Given the description of an element on the screen output the (x, y) to click on. 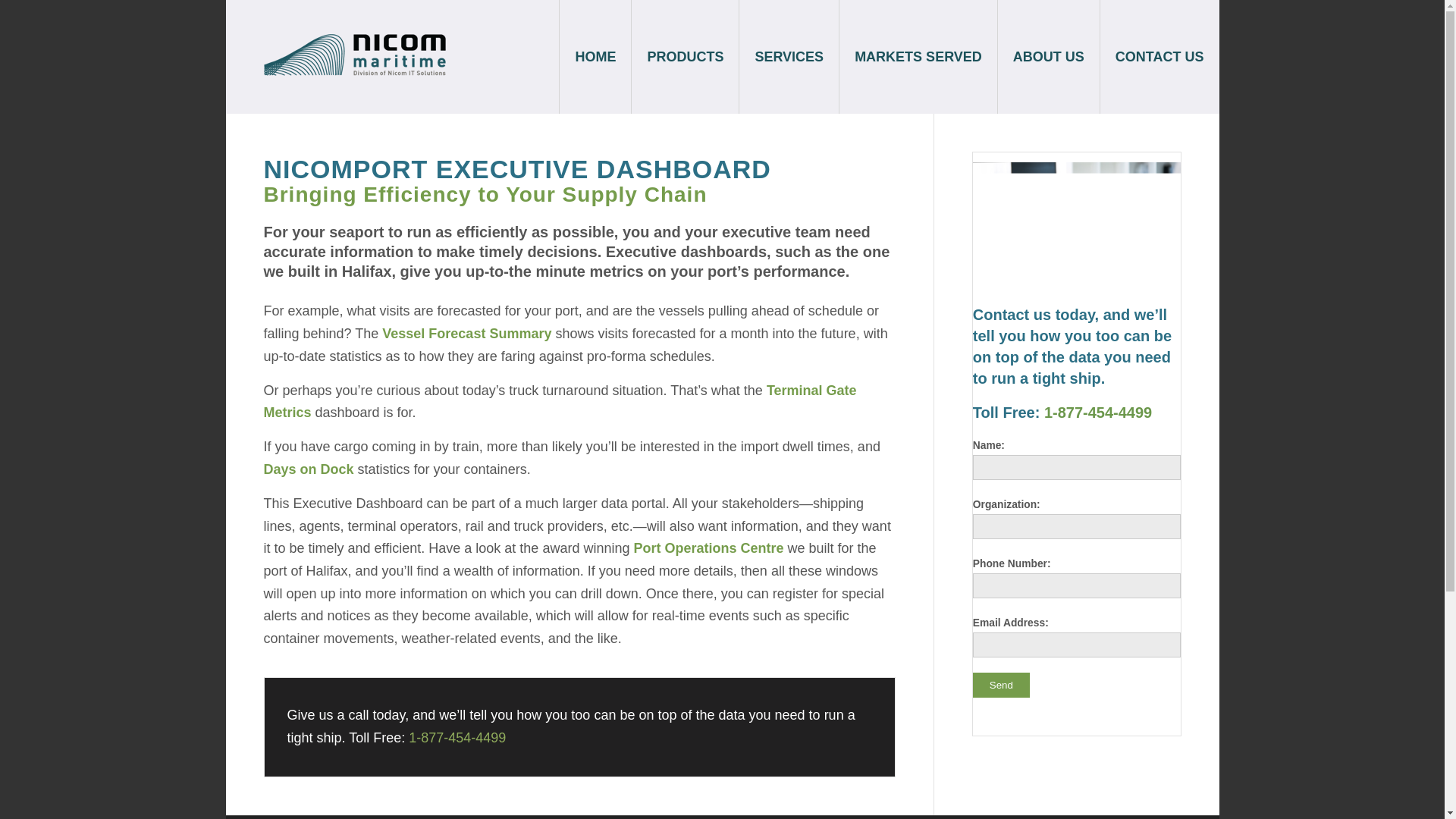
nicom-maritime (354, 55)
nicom-maritime (354, 73)
Port Operations Centre (708, 548)
PRODUCTS (684, 56)
